Given the description of an element on the screen output the (x, y) to click on. 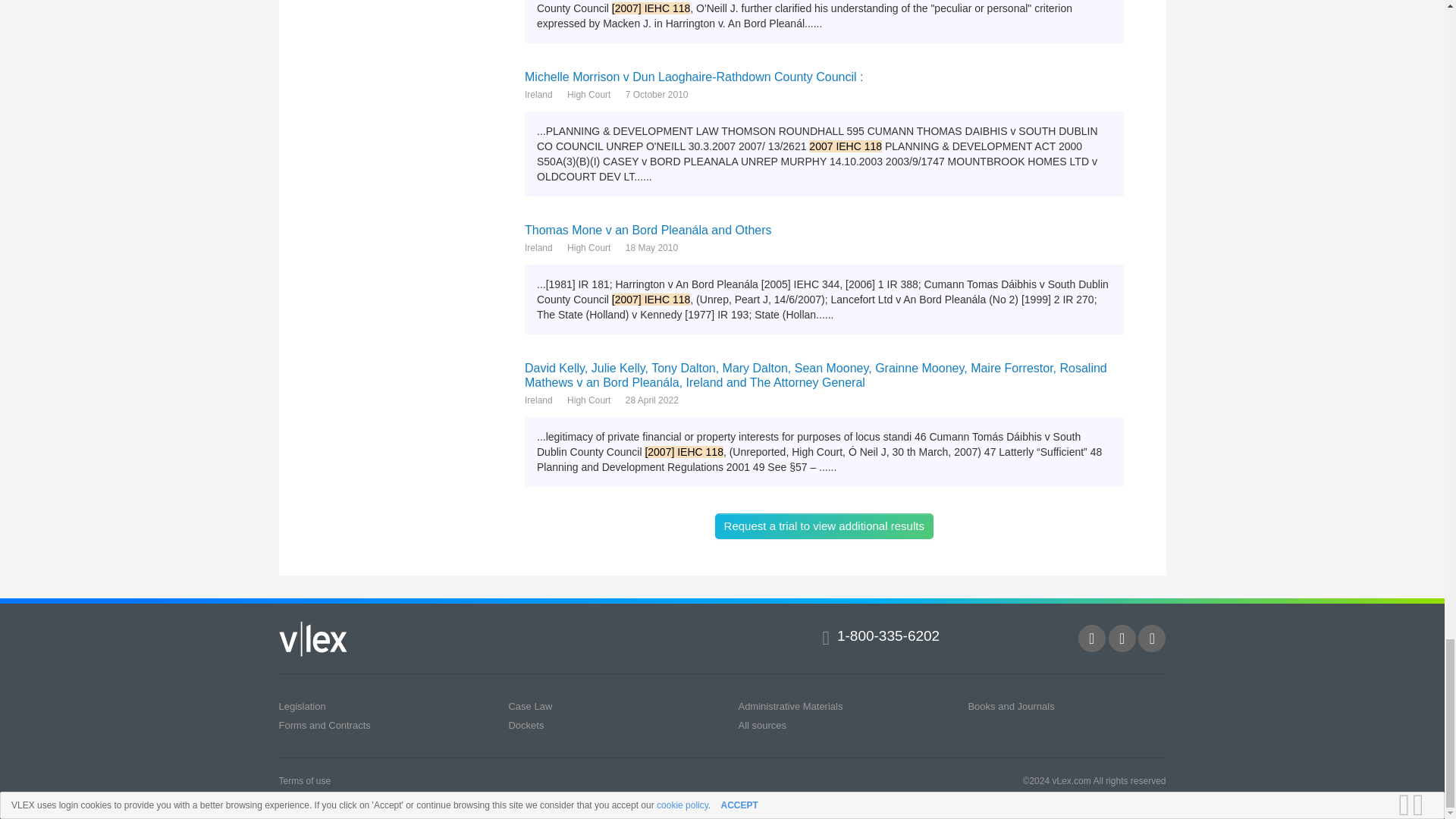
Michelle Morrison v Dun Laoghaire-Rathdown County Council : (824, 75)
7 October 2010 (657, 94)
High Court (588, 247)
Dockets (525, 725)
Case Law (529, 706)
Legislation (302, 706)
Michelle Morrison v Dun Laoghaire-Rathdown County Council : (824, 75)
Legislation (302, 706)
vLex (313, 638)
Ireland (538, 400)
Ireland (538, 94)
28 April 2022 (652, 400)
Ireland (538, 247)
High Court (588, 94)
Forms and Contracts (325, 725)
